Given the description of an element on the screen output the (x, y) to click on. 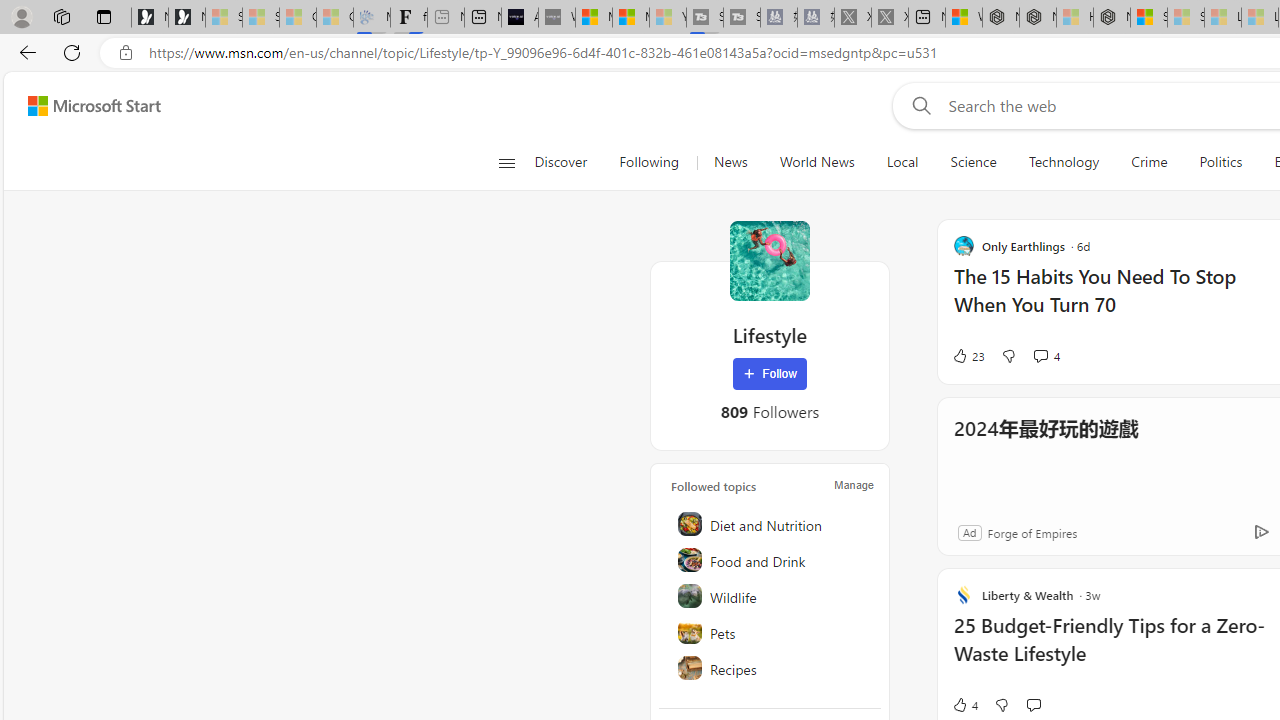
AI Voice Changer for PC and Mac - Voice.ai (519, 17)
Microsoft Start Sports (593, 17)
Wildlife - MSN (963, 17)
Crime (1149, 162)
Skip to footer (82, 105)
Crime (1149, 162)
Politics (1220, 162)
Ad (969, 532)
Streaming Coverage | T3 - Sleeping (705, 17)
Discover (560, 162)
